Given the description of an element on the screen output the (x, y) to click on. 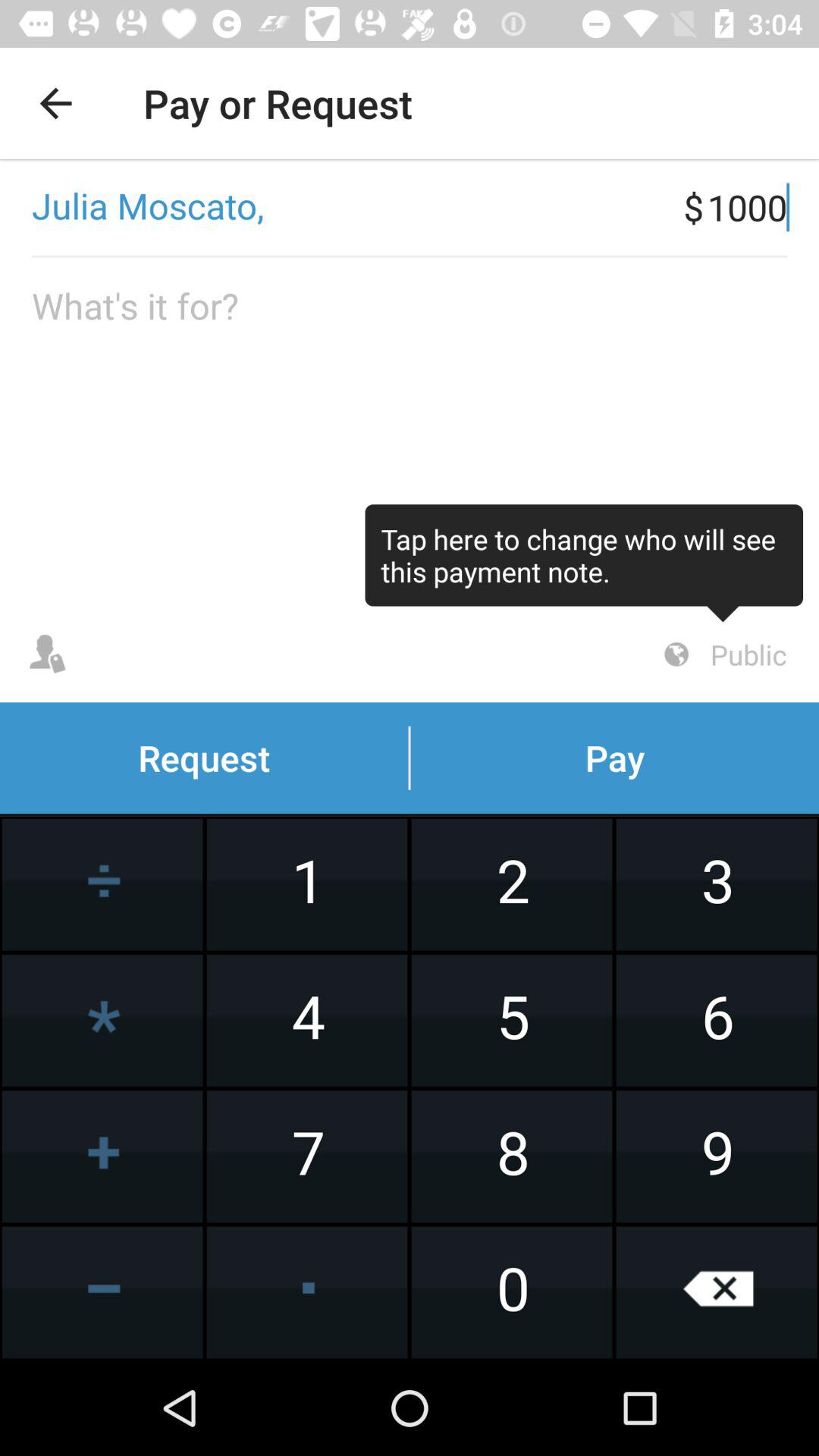
press item next to the request item (722, 654)
